Given the description of an element on the screen output the (x, y) to click on. 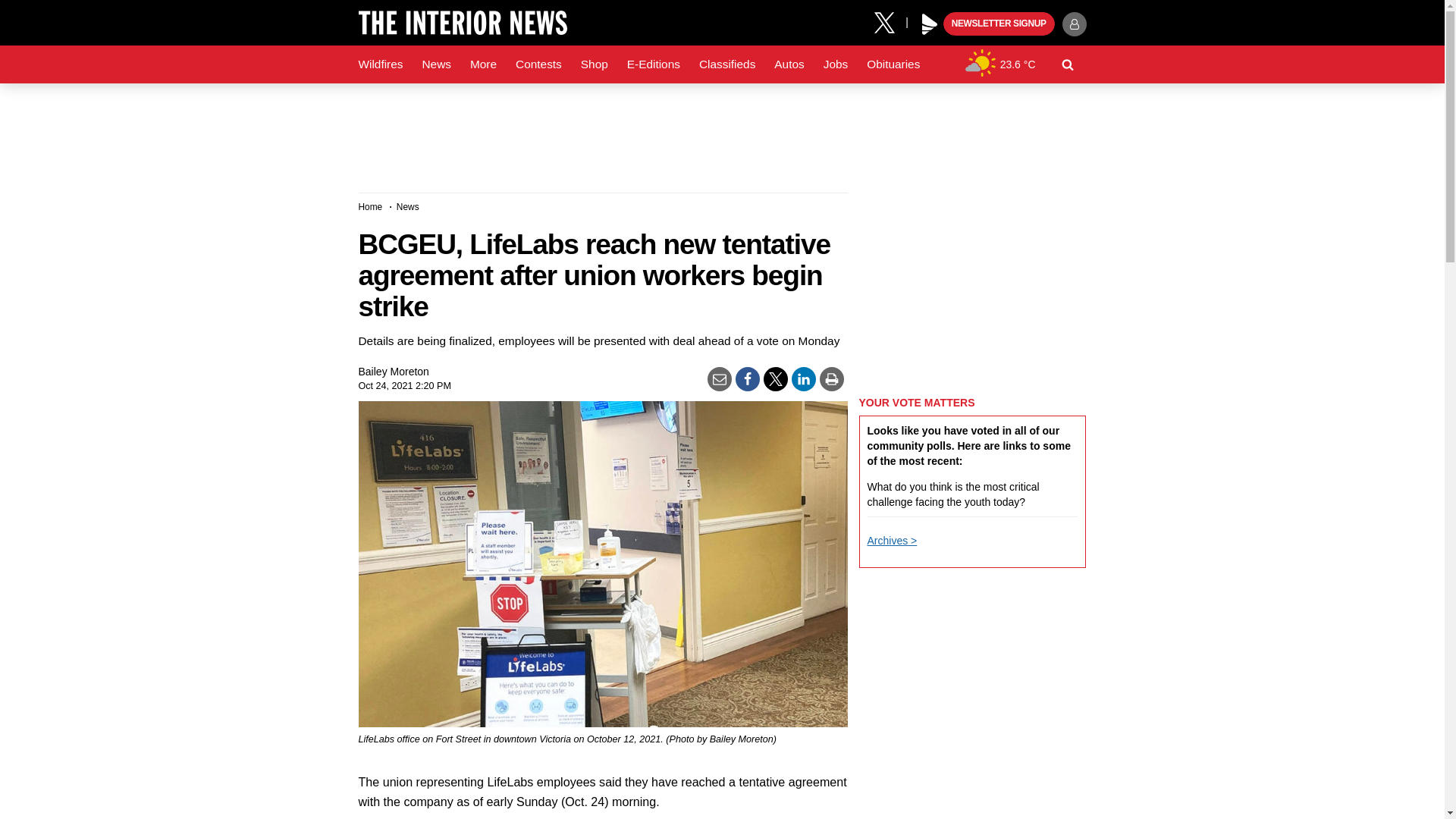
Black Press Media (929, 24)
Wildfires (380, 64)
X (889, 21)
News (435, 64)
Play (929, 24)
NEWSLETTER SIGNUP (998, 24)
